Given the description of an element on the screen output the (x, y) to click on. 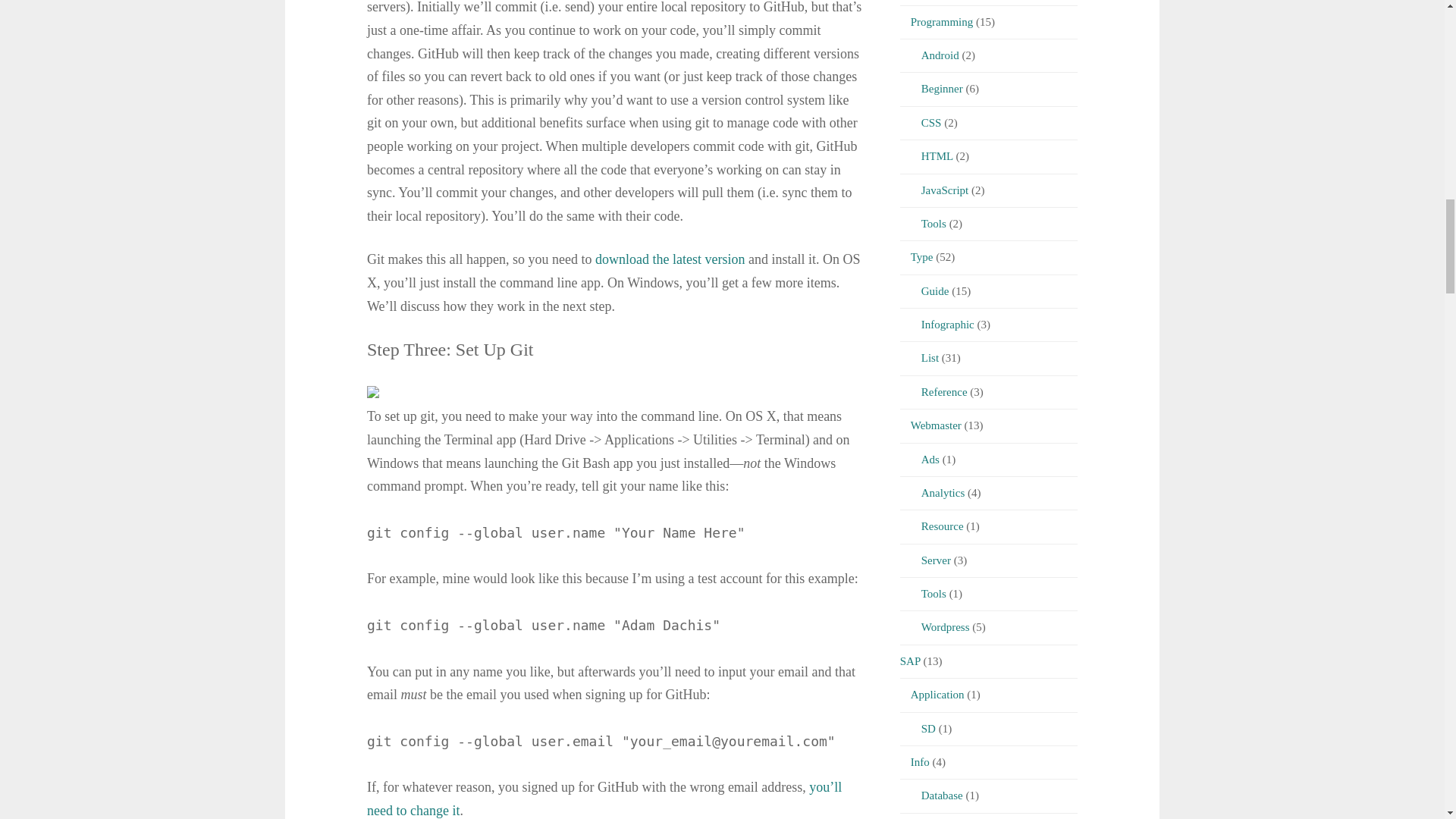
download the latest version (669, 258)
